Given the description of an element on the screen output the (x, y) to click on. 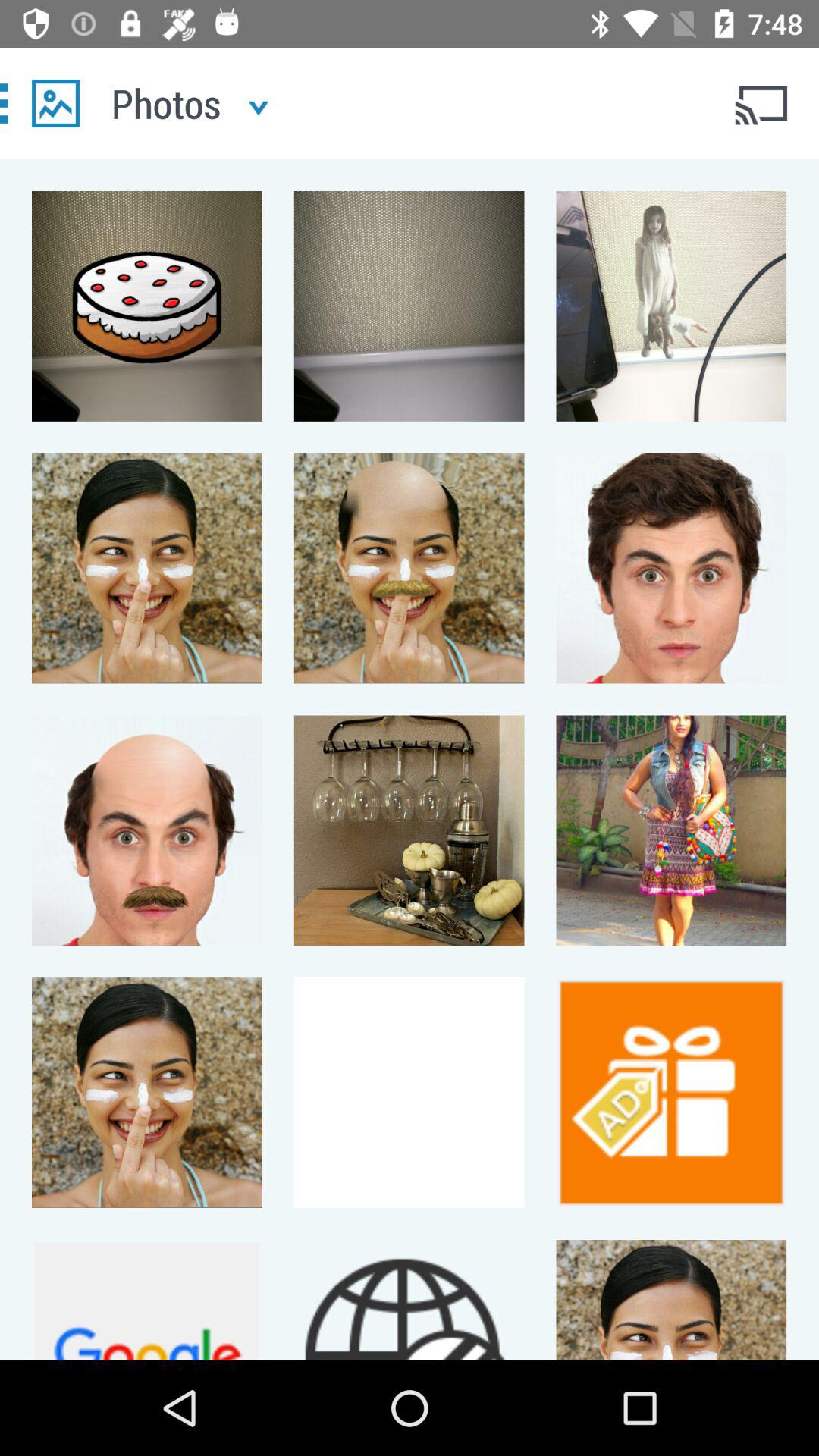
upload photo (55, 103)
